Given the description of an element on the screen output the (x, y) to click on. 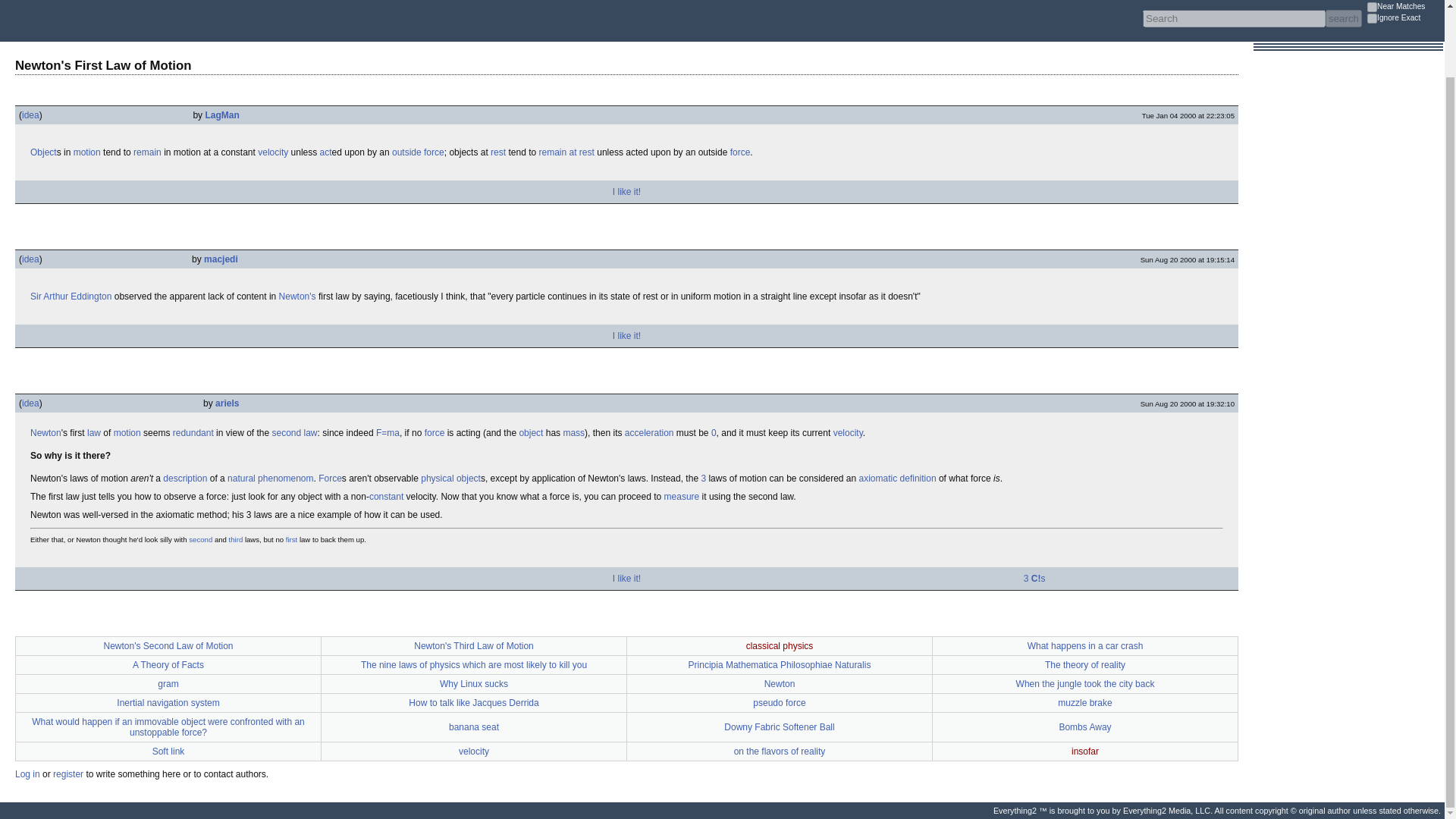
del.icio.us (56, 191)
StumbleUpon (87, 191)
force (740, 152)
search (1342, 18)
Newton's (297, 296)
I like it! (626, 191)
rest (497, 152)
Object (43, 152)
idea (30, 258)
idea (30, 403)
